Given the description of an element on the screen output the (x, y) to click on. 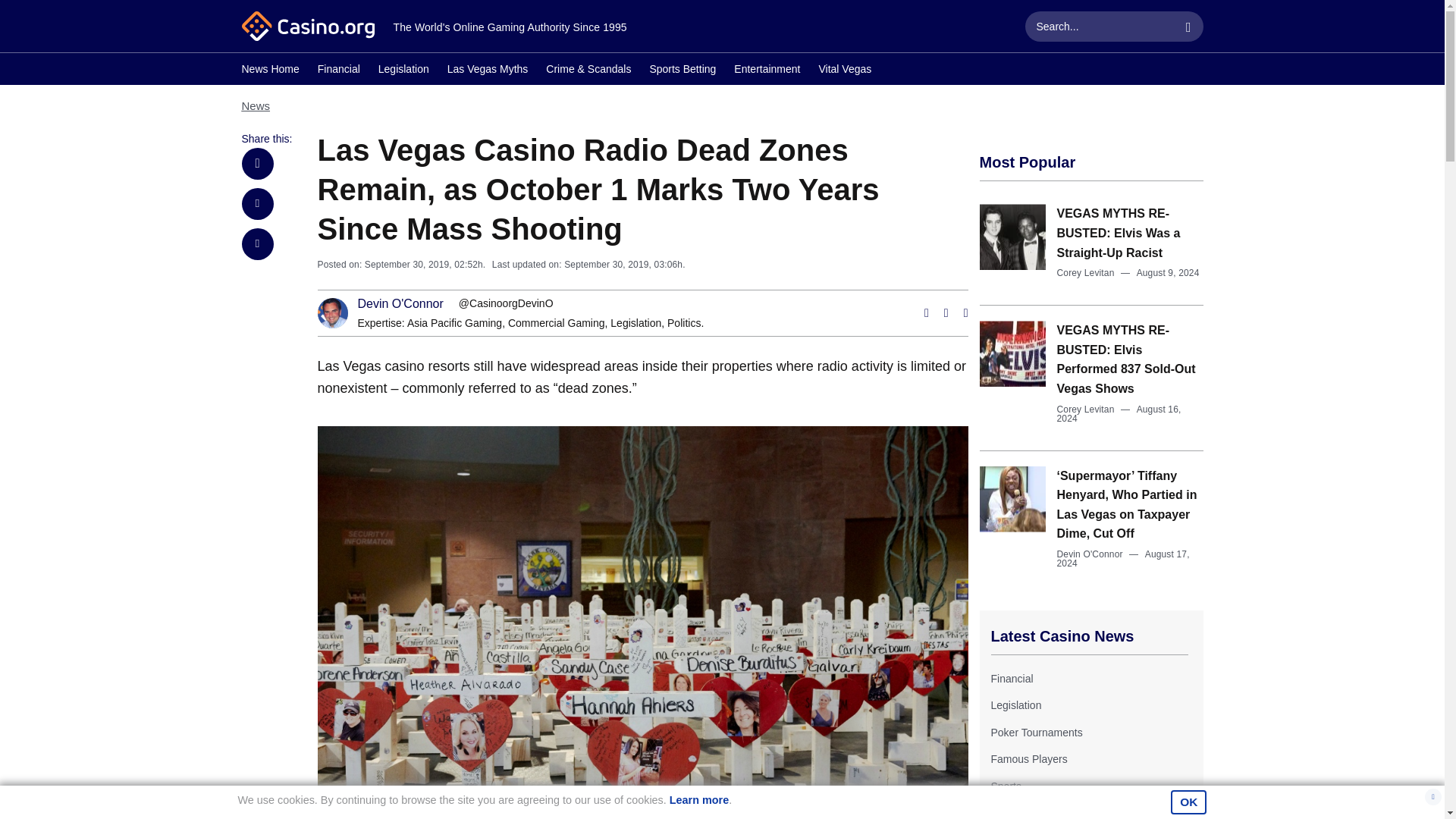
Legislation (635, 322)
Corey Levitan (1086, 409)
Politics (683, 322)
Legislation (403, 70)
Las Vegas Myths (487, 70)
Sports (1005, 786)
Financial (338, 70)
Asia Pacific Gaming (454, 322)
Poker Tournaments (1035, 732)
Commercial Gaming (556, 322)
